Given the description of an element on the screen output the (x, y) to click on. 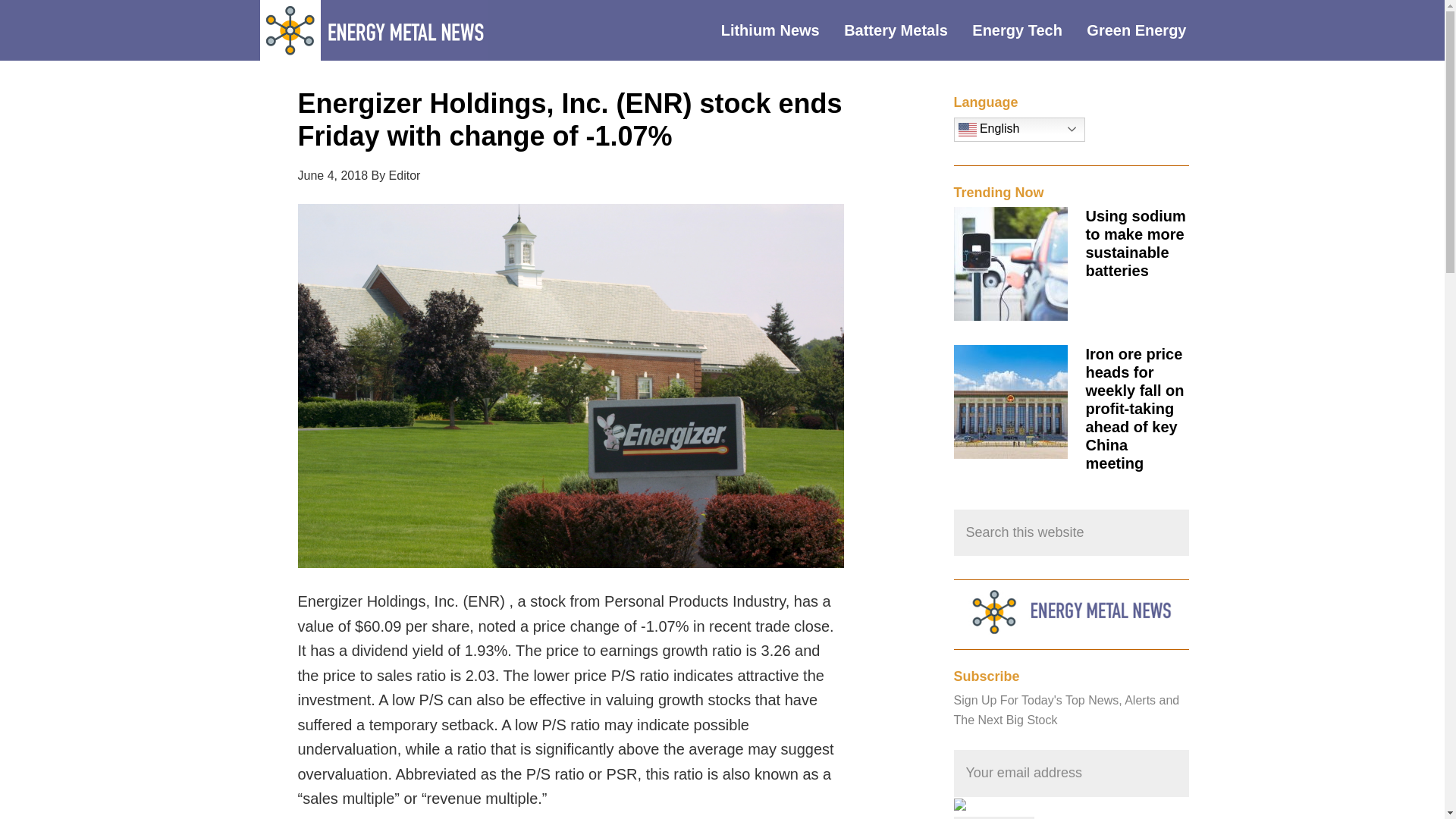
Green Energy (1146, 30)
Lithium News (780, 30)
Sign up (994, 817)
Energy Metal News (372, 30)
English (1018, 129)
Battery Metals (906, 30)
Using sodium to make more sustainable batteries (1136, 243)
Energy Tech (1027, 30)
Sign up (994, 817)
